Given the description of an element on the screen output the (x, y) to click on. 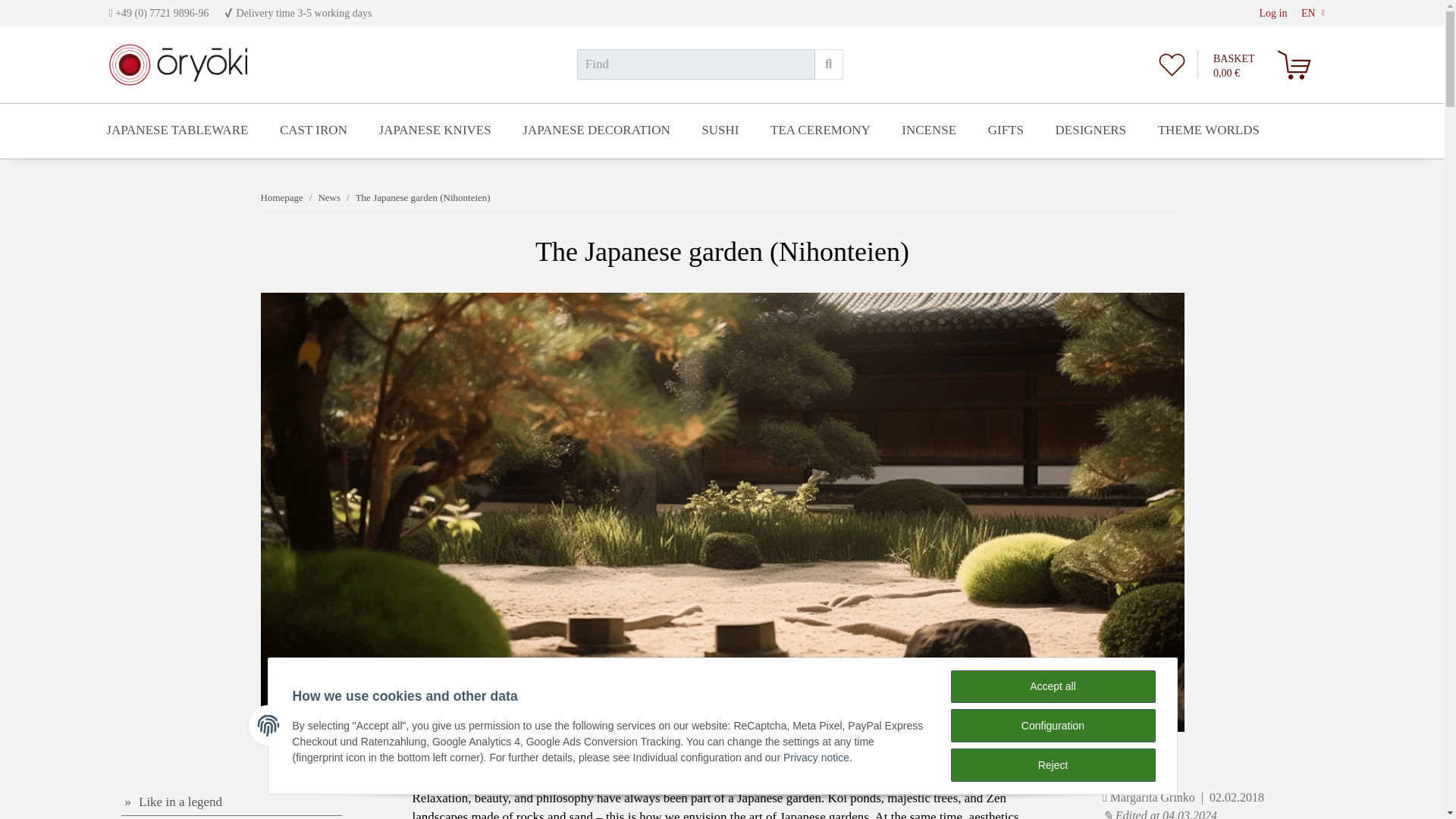
Japanese knives (434, 130)
JAPANESE DECORATION (595, 130)
News (328, 196)
Cast iron (312, 130)
EN (1313, 12)
Japanese tableware (177, 130)
DESIGNERS (1090, 130)
ORYOKI Onlineshop (178, 64)
